Given the description of an element on the screen output the (x, y) to click on. 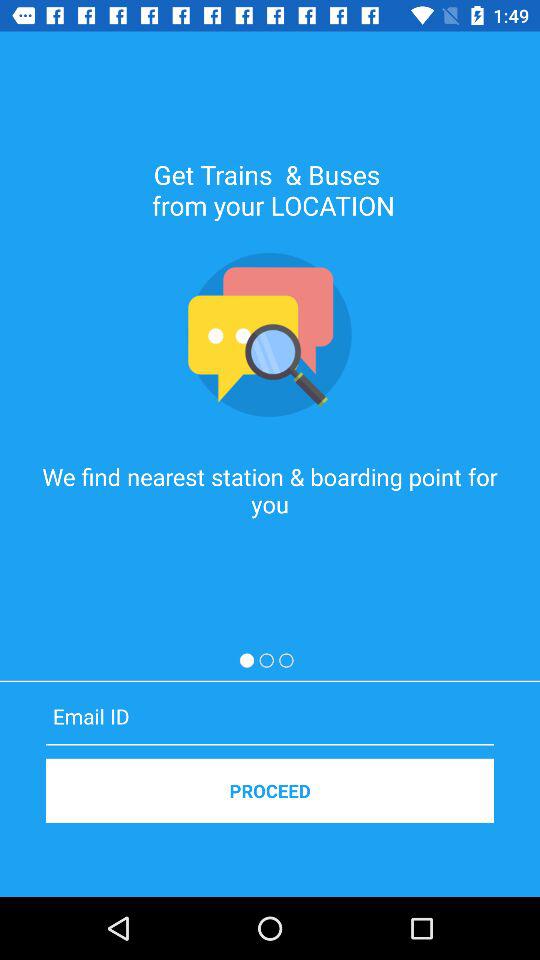
tap email id icon (269, 716)
